Given the description of an element on the screen output the (x, y) to click on. 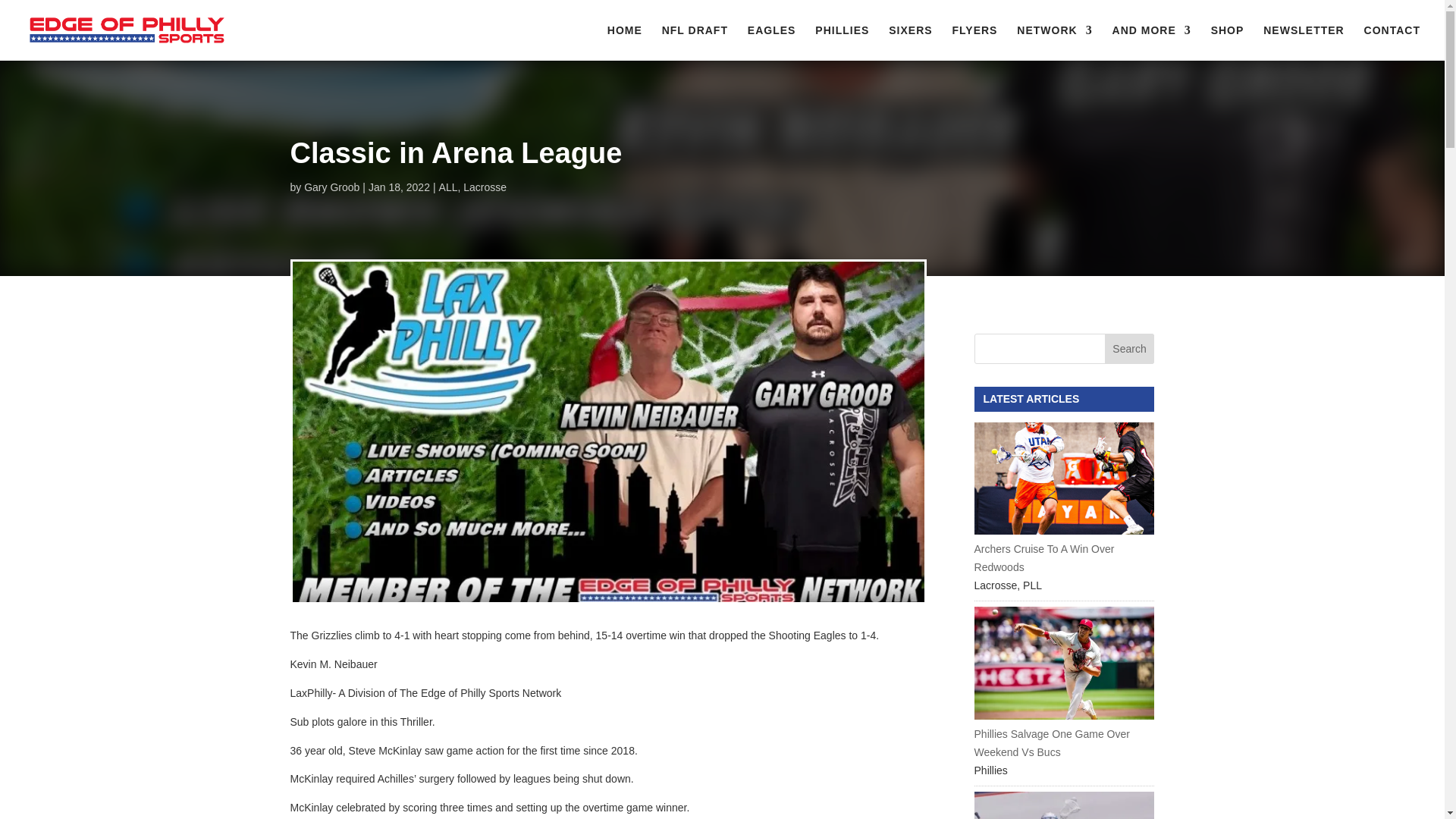
Search (1129, 348)
PHILLIES (842, 42)
EAGLES (772, 42)
Posts by Gary Groob (331, 186)
FLYERS (974, 42)
NETWORK (1054, 42)
AND MORE (1151, 42)
SIXERS (909, 42)
NFL DRAFT (695, 42)
SHOP (1227, 42)
HOME (624, 42)
CONTACT (1392, 42)
NEWSLETTER (1303, 42)
